Given the description of an element on the screen output the (x, y) to click on. 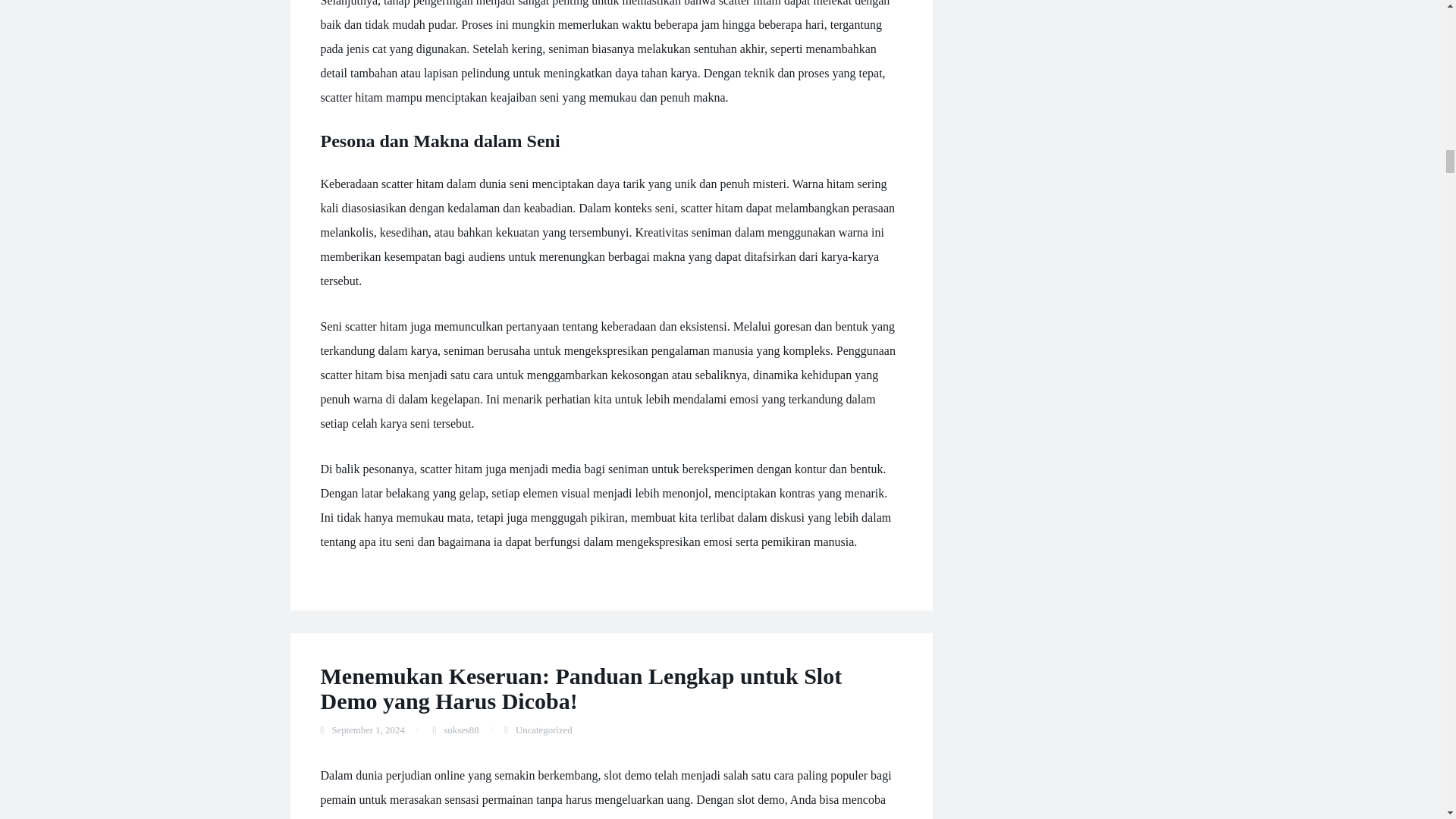
Uncategorized (543, 729)
September 1, 2024 (367, 729)
sukses88 (461, 729)
